Given the description of an element on the screen output the (x, y) to click on. 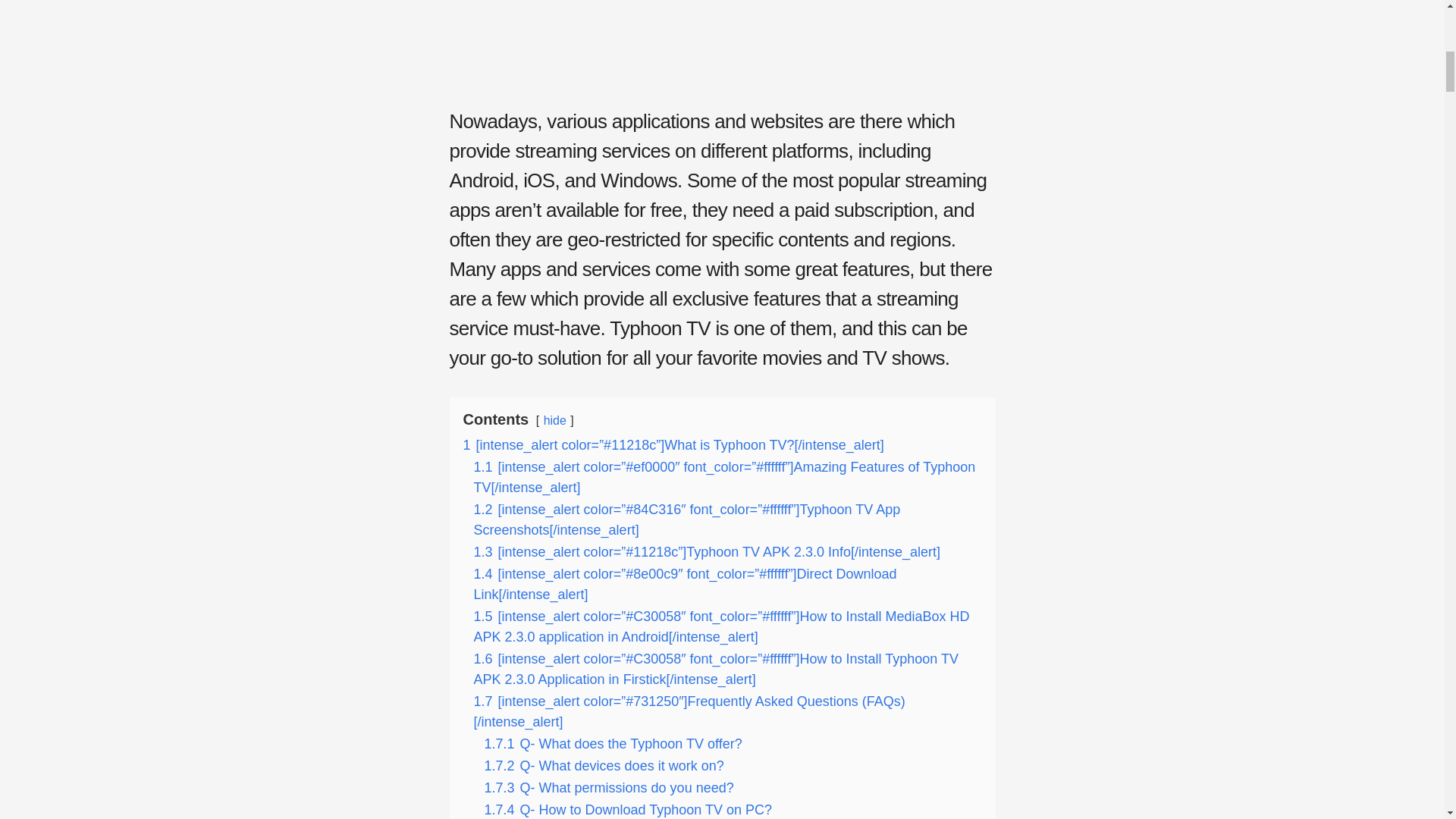
Advertisement (721, 49)
1.7.1 Q- What does the Typhoon TV offer? (612, 743)
1.7.2 Q- What devices does it work on? (603, 765)
1.7.4 Q- How to Download Typhoon TV on PC? (627, 809)
hide (554, 420)
1.7.3 Q- What permissions do you need? (608, 787)
